Given the description of an element on the screen output the (x, y) to click on. 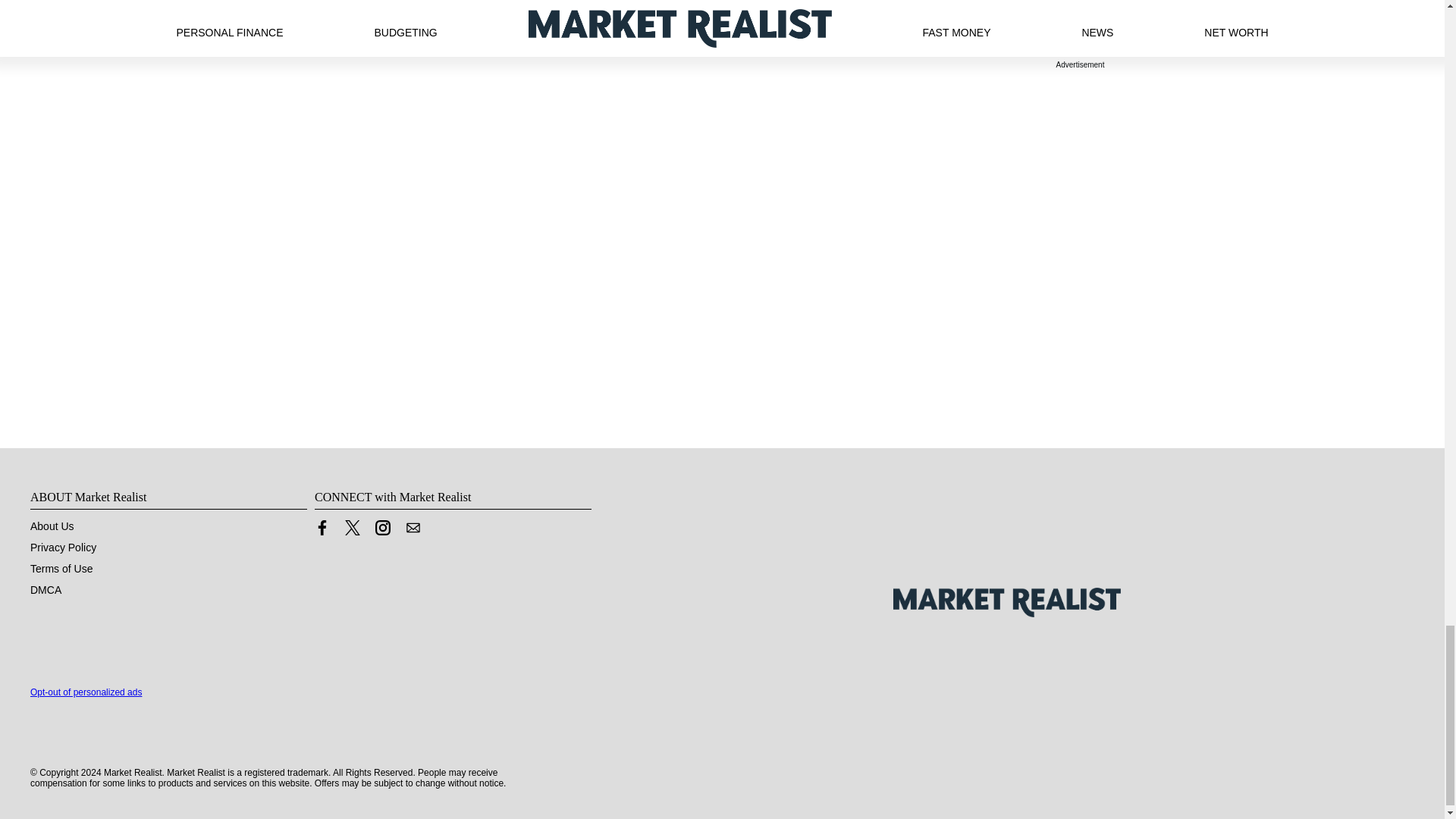
DMCA (45, 589)
Terms of Use (61, 568)
Terms of Use (61, 568)
About Us (52, 526)
Opt-out of personalized ads (85, 692)
Link to X (352, 531)
Contact us by Email (413, 531)
Link to X (352, 527)
Privacy Policy (63, 547)
About Us (52, 526)
